Given the description of an element on the screen output the (x, y) to click on. 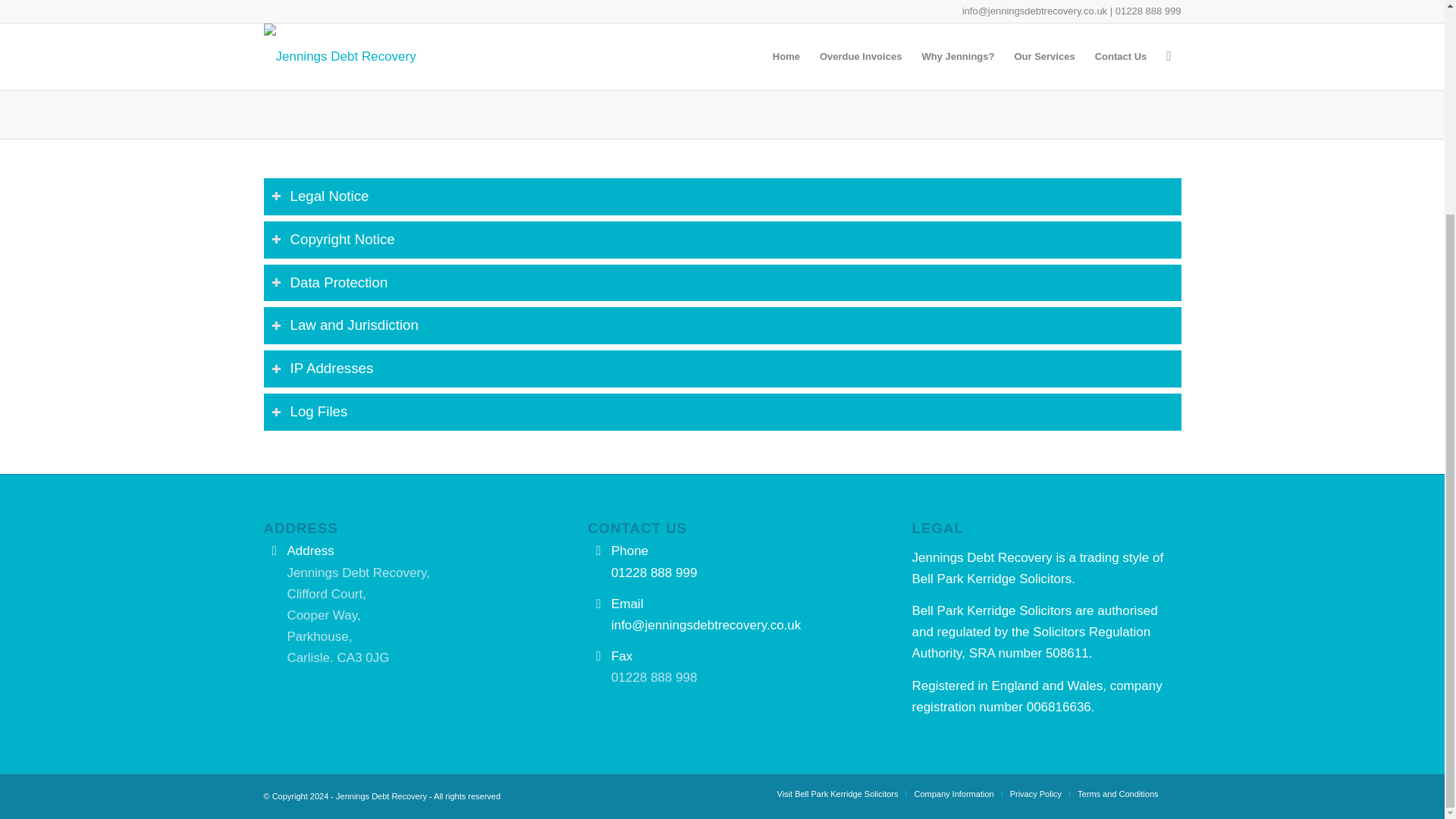
01228 888 999 (654, 572)
Visit Bell Park Kerridge Solicitors (837, 793)
Privacy Policy (1035, 793)
Terms and Conditions (1117, 793)
Company Information (953, 793)
